Given the description of an element on the screen output the (x, y) to click on. 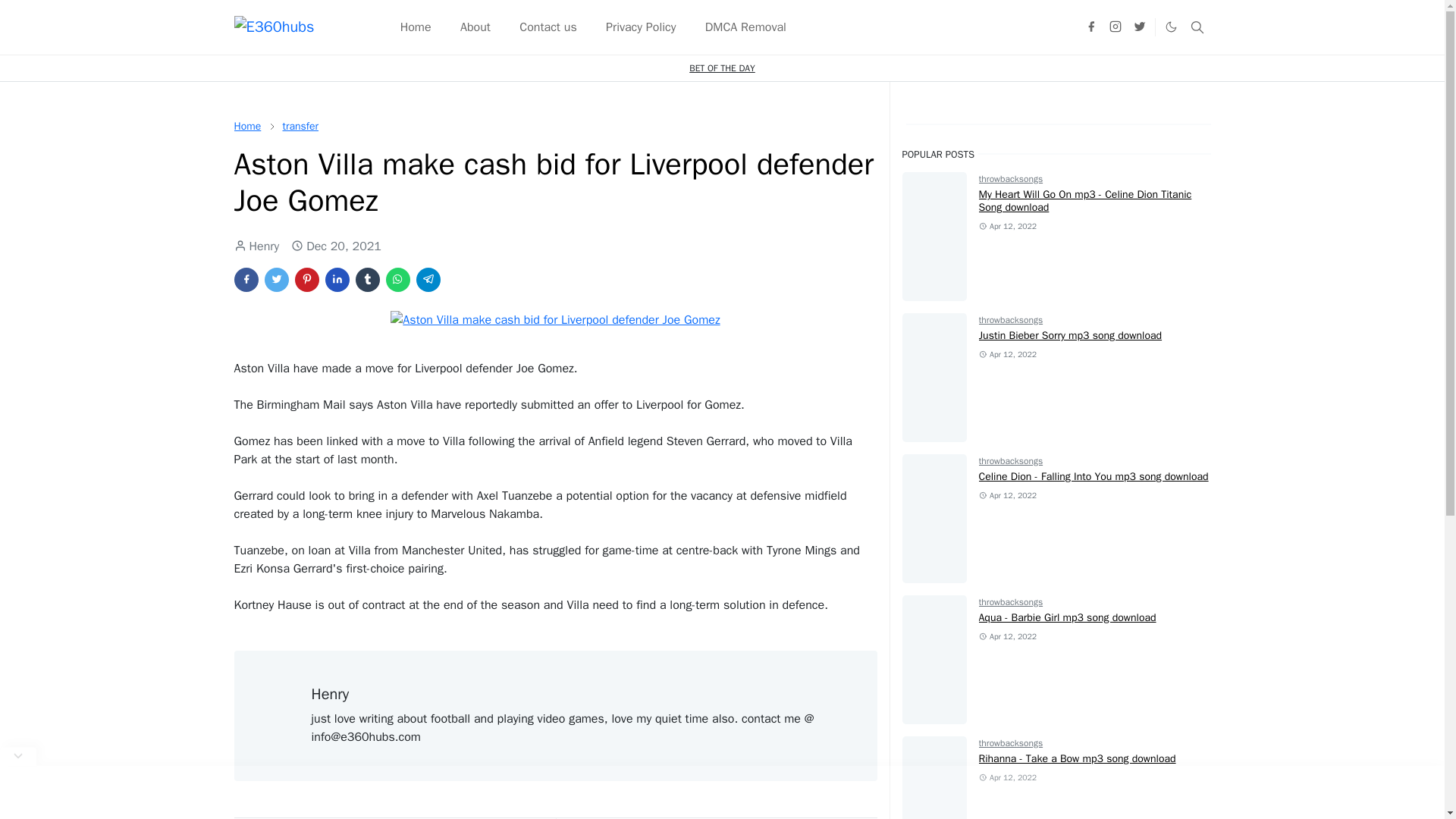
BET OF THE DAY (722, 68)
DMCA Removal (745, 27)
transfer (300, 125)
Home (246, 125)
throwbacksongs (1010, 319)
My Heart Will Go On mp3 - Celine Dion Titanic Song download (1085, 200)
Home (246, 125)
Facebook Share (244, 279)
Aqua - Barbie Girl mp3 song download (1067, 617)
